Given the description of an element on the screen output the (x, y) to click on. 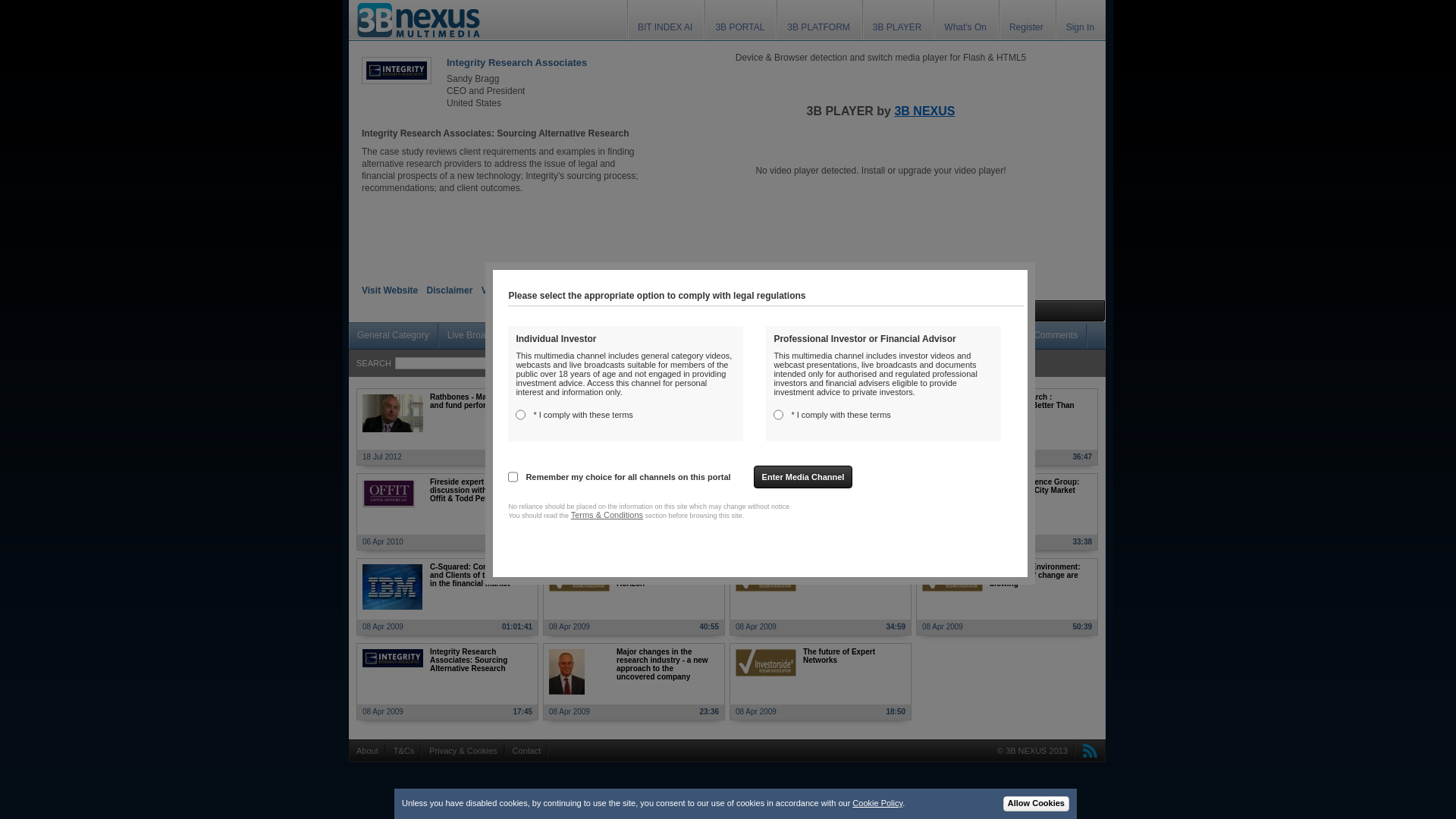
Markets Element type: text (885, 335)
3B PORTAL Element type: text (739, 20)
The Future of Credit Research
08 Apr 2009
34:59 Element type: text (820, 596)
Enter Media Channel Element type: text (803, 476)
Regions Element type: text (937, 335)
About Element type: text (366, 750)
All Comments Element type: text (1048, 335)
Fund Managers Element type: text (748, 335)
Allow Cookies Element type: text (1036, 803)
Cookie Policy Element type: text (877, 802)
Alerts Element type: text (815, 310)
Terms & Conditions Element type: text (607, 514)
Visit Website Element type: text (389, 290)
Embed Element type: text (761, 310)
RSS Subscription Element type: hover (1086, 750)
Expert Views Element type: text (824, 335)
FIND Element type: text (606, 362)
Favorites Element type: text (930, 310)
Disclaimer Element type: text (449, 290)
Sign In Element type: text (1079, 20)
Privacy & Cookies Element type: text (462, 750)
T&Cs Element type: text (403, 750)
Sectors Element type: text (987, 335)
Report Element type: text (868, 310)
3B PLATFORM Element type: text (817, 20)
View Channel Element type: text (510, 290)
Comment Element type: text (698, 310)
Register Element type: text (1025, 20)
Live Broadcasts Element type: text (479, 335)
BIT INDEX AI Element type: text (664, 20)
Integrity Research Associates Element type: text (516, 62)
General Category Element type: text (392, 335)
3B PLAYER Element type: text (896, 20)
3B NEXUS Element type: text (924, 110)
What's On Element type: text (964, 20)
Public Companies Element type: text (566, 335)
The future of Expert Networks
08 Apr 2009
18:50 Element type: text (820, 681)
Private Companies Element type: text (659, 335)
Contact Element type: text (527, 750)
